Given the description of an element on the screen output the (x, y) to click on. 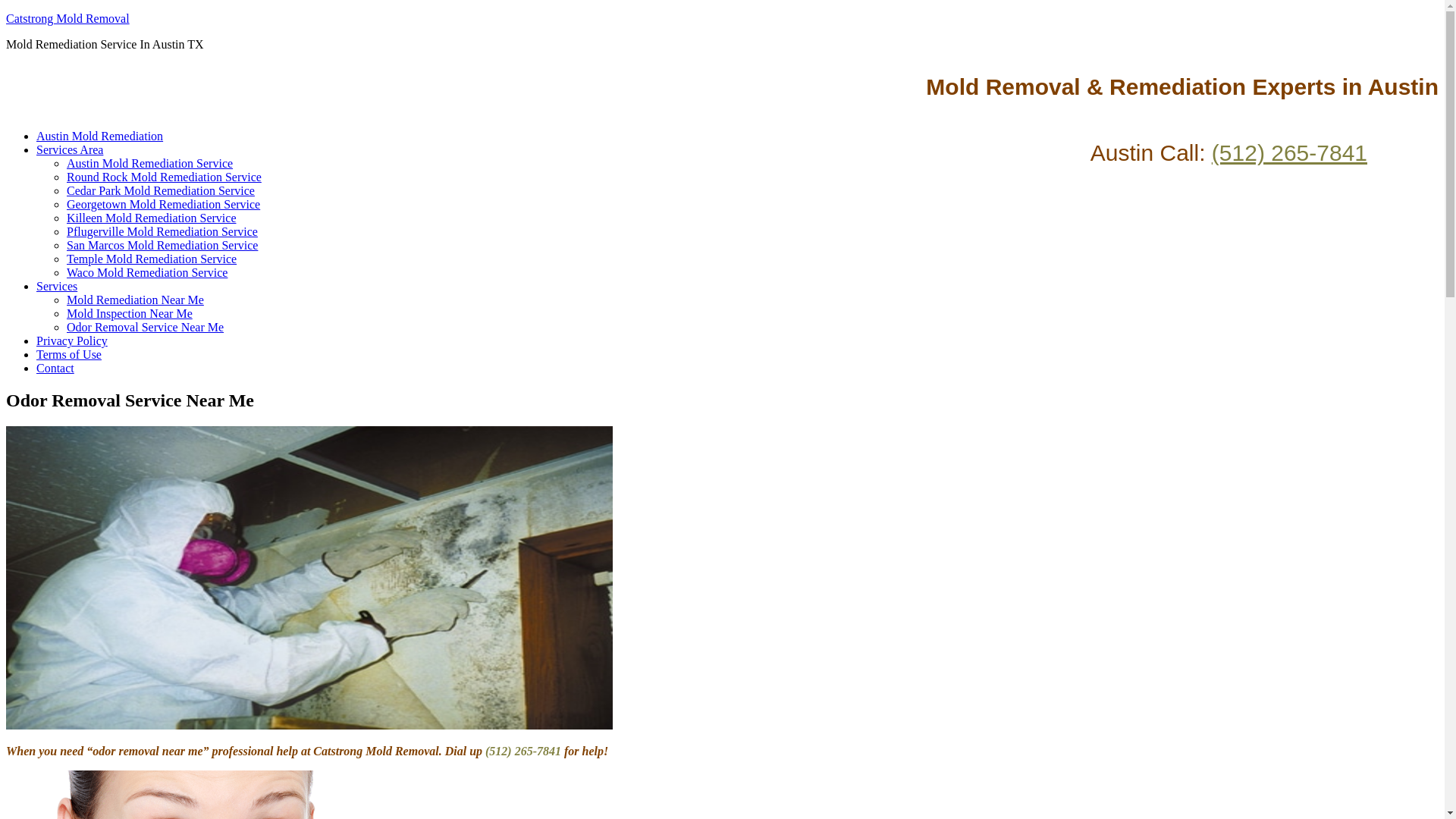
San Marcos Mold Remediation Service (161, 245)
Waco Mold Remediation Service (146, 272)
Austin Mold Remediation (99, 135)
Catstrong Mold Removal (67, 18)
Mold Inspection Near Me (129, 313)
Killeen Mold Remediation Service (150, 217)
Austin Mold Remediation Service (149, 163)
Services Area (69, 149)
Contact (55, 367)
Georgetown Mold Remediation Service (163, 204)
